Given the description of an element on the screen output the (x, y) to click on. 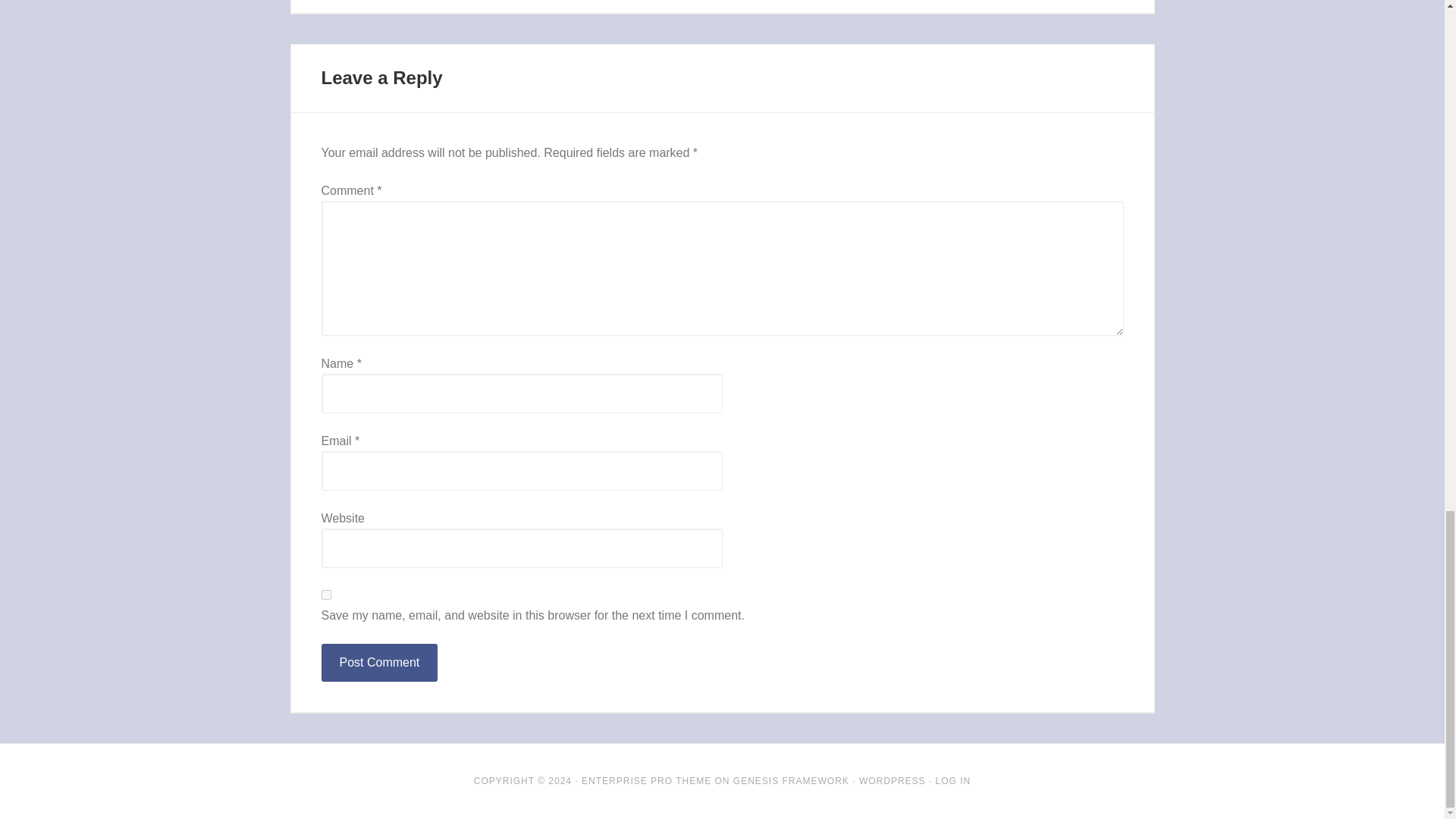
GENESIS FRAMEWORK (790, 780)
yes (326, 594)
ENTERPRISE PRO THEME (645, 780)
LOG IN (953, 780)
Post Comment (379, 662)
WORDPRESS (892, 780)
Post Comment (379, 662)
